Given the description of an element on the screen output the (x, y) to click on. 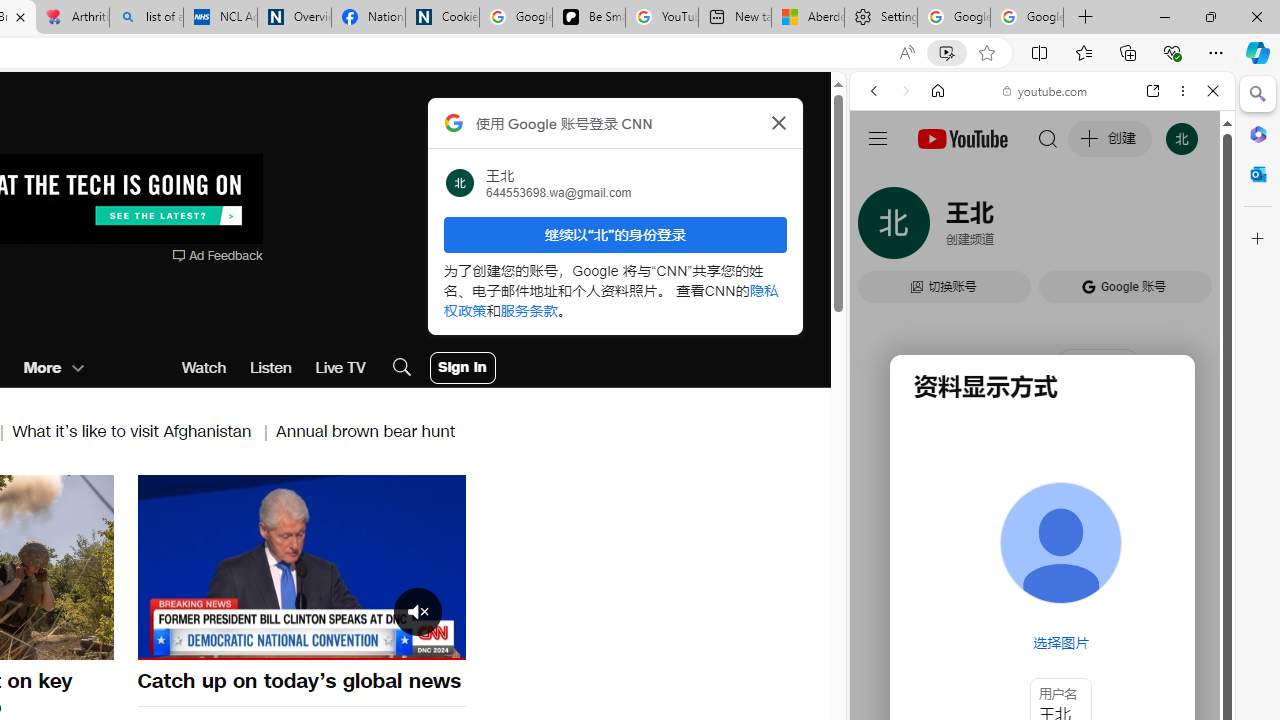
youtube.com (1046, 90)
Options (394, 642)
Captions Unavailable (350, 642)
Enhance video (946, 53)
Live TV (340, 367)
